Given the description of an element on the screen output the (x, y) to click on. 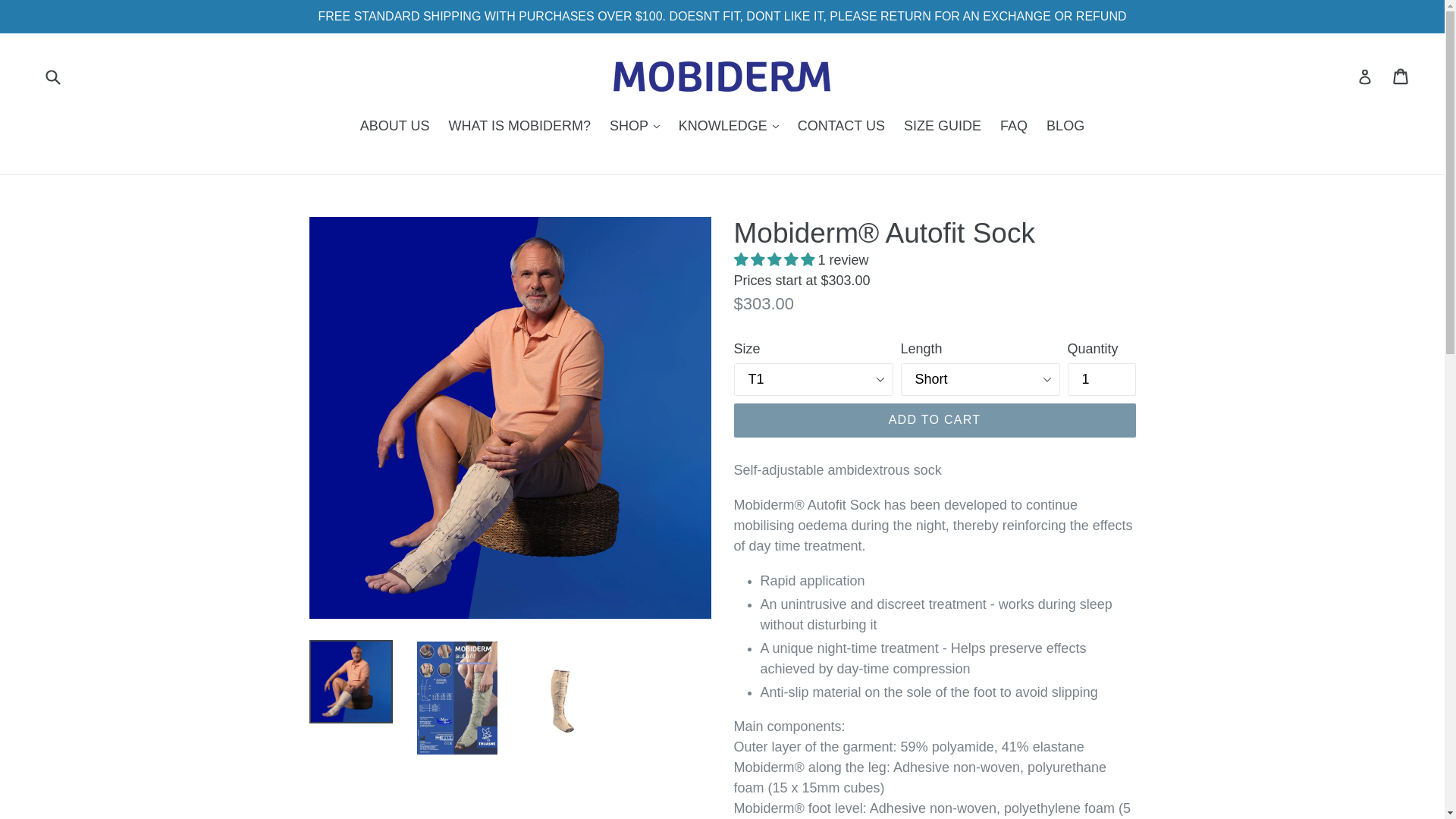
ADD TO CART Element type: text (934, 419)
Submit Element type: text (51, 76)
BLOG Element type: text (1065, 127)
WHAT IS MOBIDERM? Element type: text (519, 127)
Cart
Cart Element type: text (1401, 76)
CONTACT US Element type: text (841, 127)
SIZE GUIDE Element type: text (942, 127)
Log in Element type: text (1364, 76)
ABOUT US Element type: text (394, 127)
FAQ Element type: text (1013, 127)
